Given the description of an element on the screen output the (x, y) to click on. 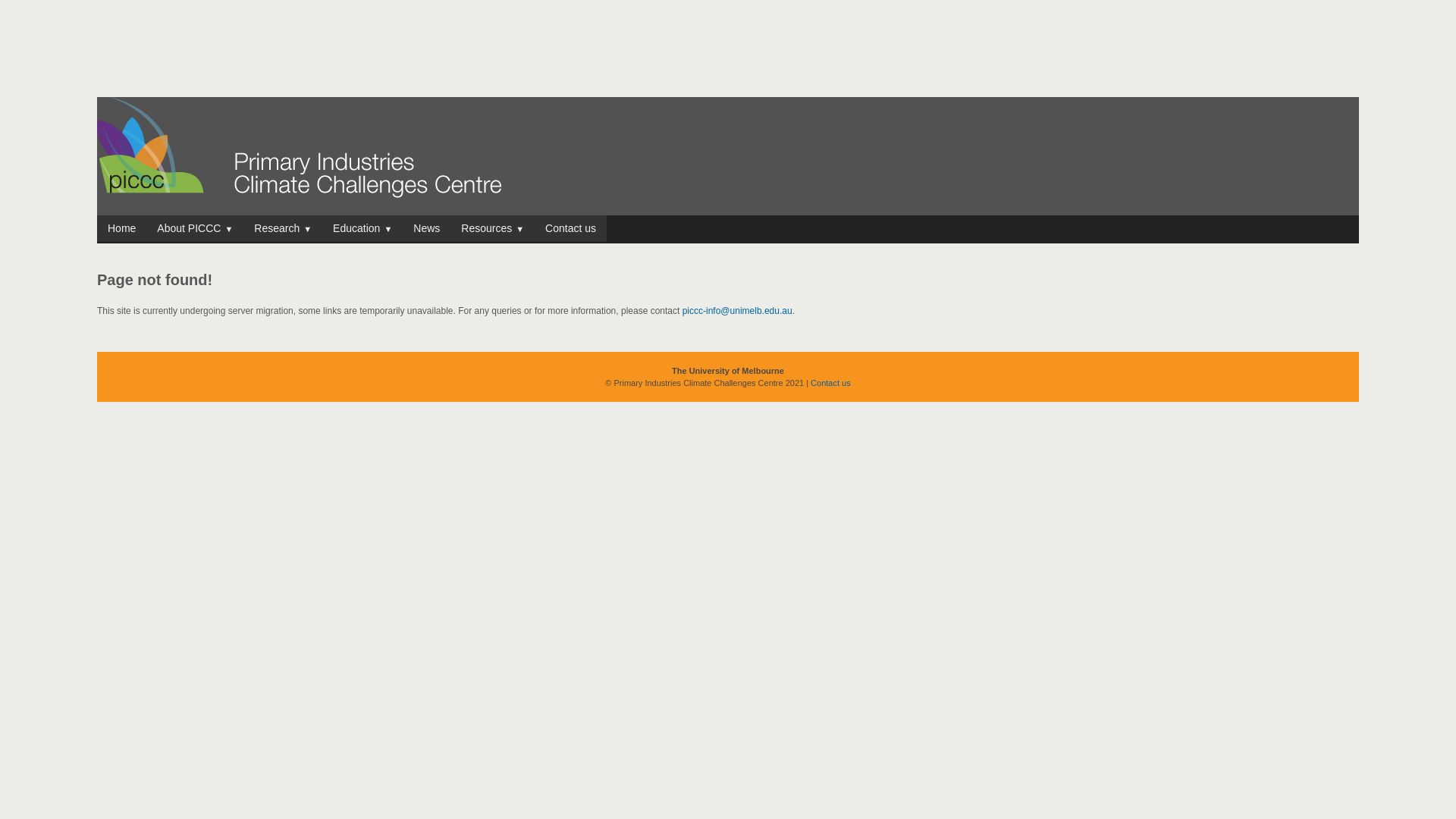
piccc-info@unimelb.edu.au Element type: text (737, 310)
Home Element type: text (121, 228)
Contact us Element type: text (830, 382)
News Element type: text (426, 228)
Contact us Element type: text (570, 228)
